Given the description of an element on the screen output the (x, y) to click on. 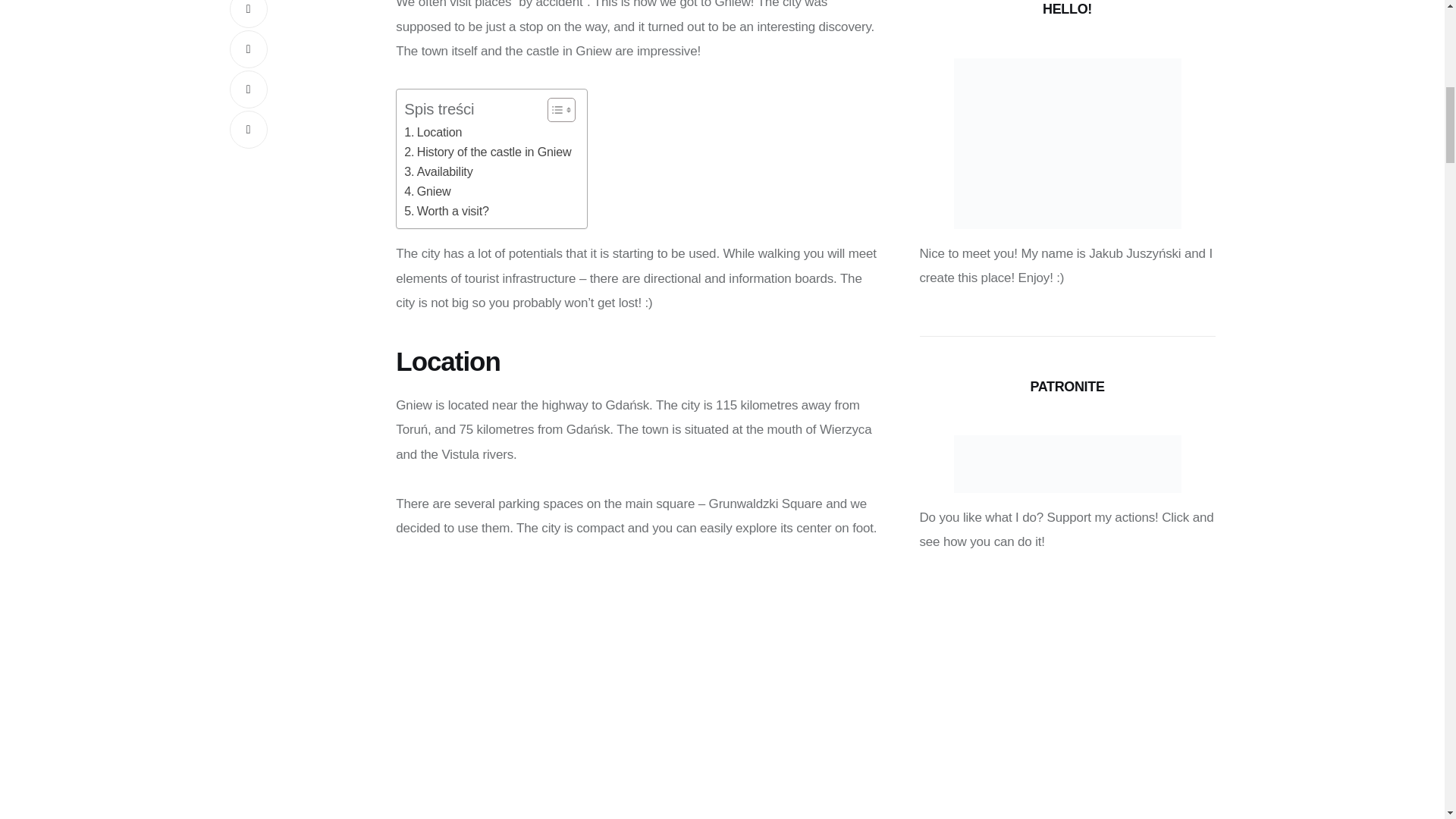
History of the castle in Gniew (487, 152)
Worth a visit? (445, 211)
Availability (437, 171)
Location (432, 132)
Gniew (426, 191)
Copy URL to clipboard (247, 129)
